Given the description of an element on the screen output the (x, y) to click on. 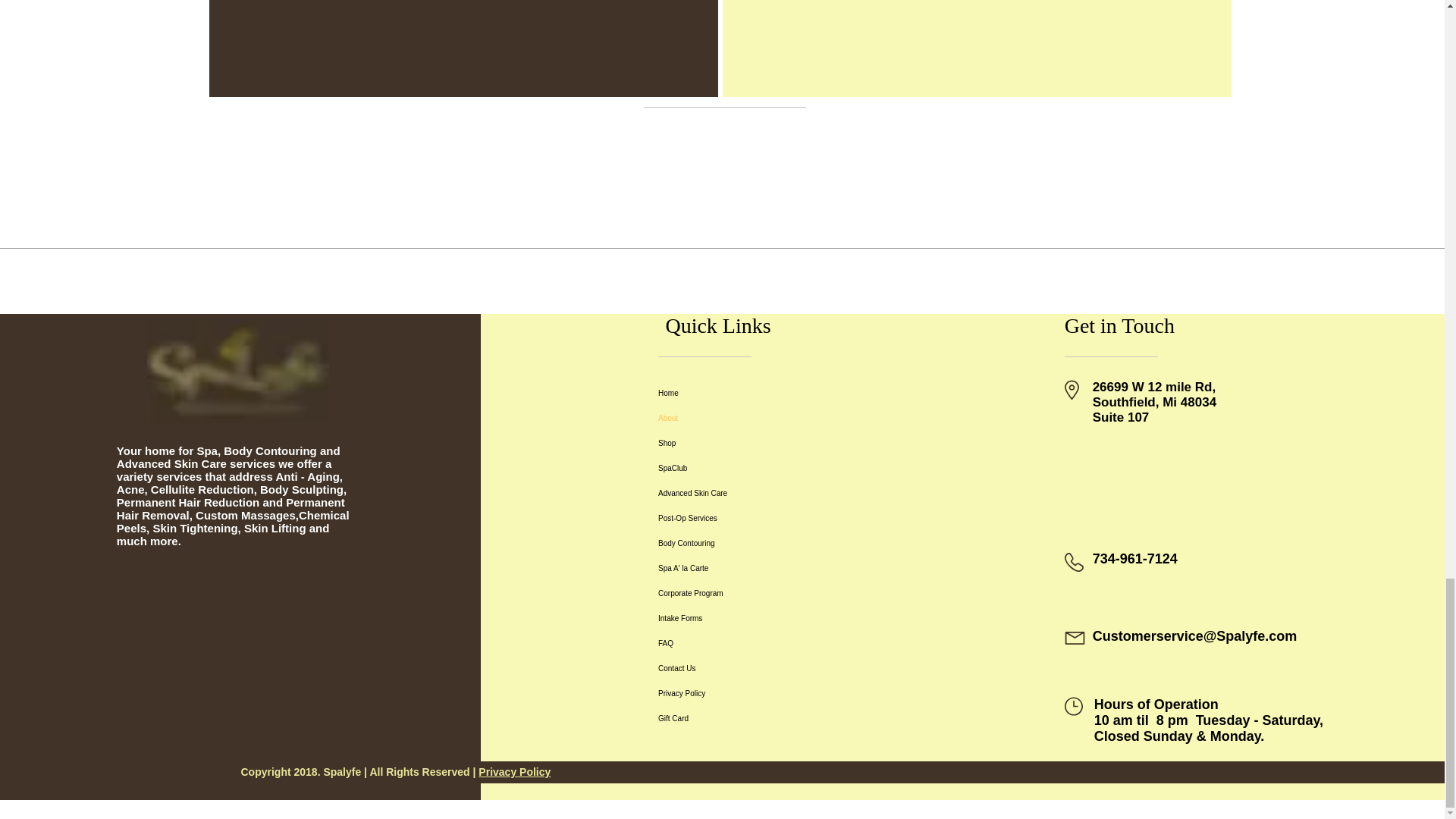
FAQ (749, 643)
SpaClub (749, 467)
About (749, 417)
Corporate Program (749, 593)
Hours of Operation (1156, 703)
Shop (749, 442)
Advanced Skin Care (749, 493)
Suite 107 (1121, 417)
Post-Op Services (749, 518)
Intake Forms (749, 618)
Body Contouring (749, 543)
Privacy Policy (749, 692)
Spa A' la Carte (749, 568)
Contact Us (749, 668)
Home (749, 392)
